Given the description of an element on the screen output the (x, y) to click on. 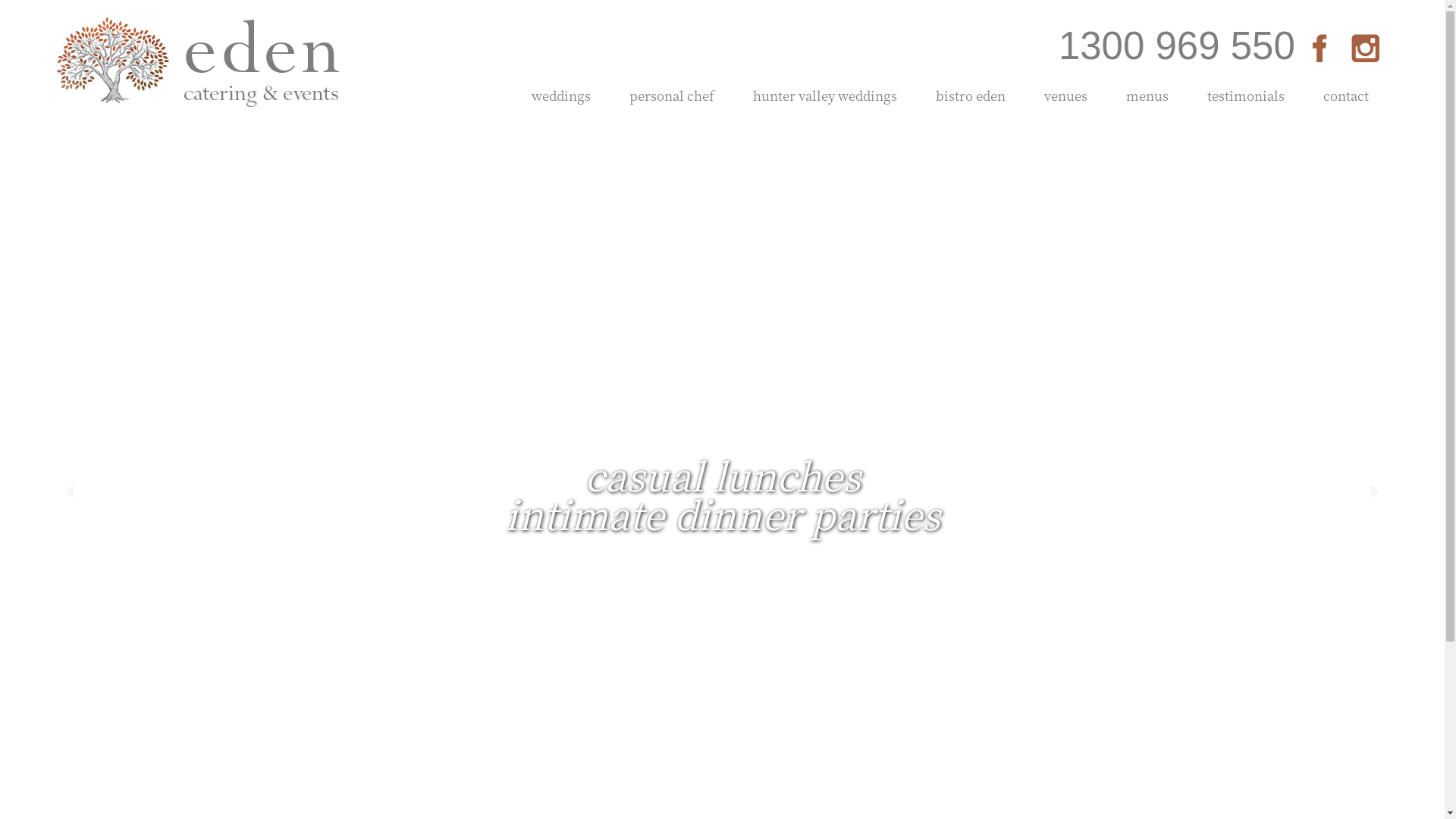
Instagram Element type: hover (1365, 48)
menus Element type: text (1147, 95)
Facebook Element type: hover (1318, 48)
contact Element type: text (1346, 95)
testimonials Element type: text (1246, 95)
bistro eden Element type: text (970, 95)
personal chef Element type: text (672, 95)
hunter valley weddings Element type: text (825, 95)
1300 969 550 Element type: text (1176, 45)
venues Element type: text (1066, 95)
weddings Element type: text (561, 95)
